Given the description of an element on the screen output the (x, y) to click on. 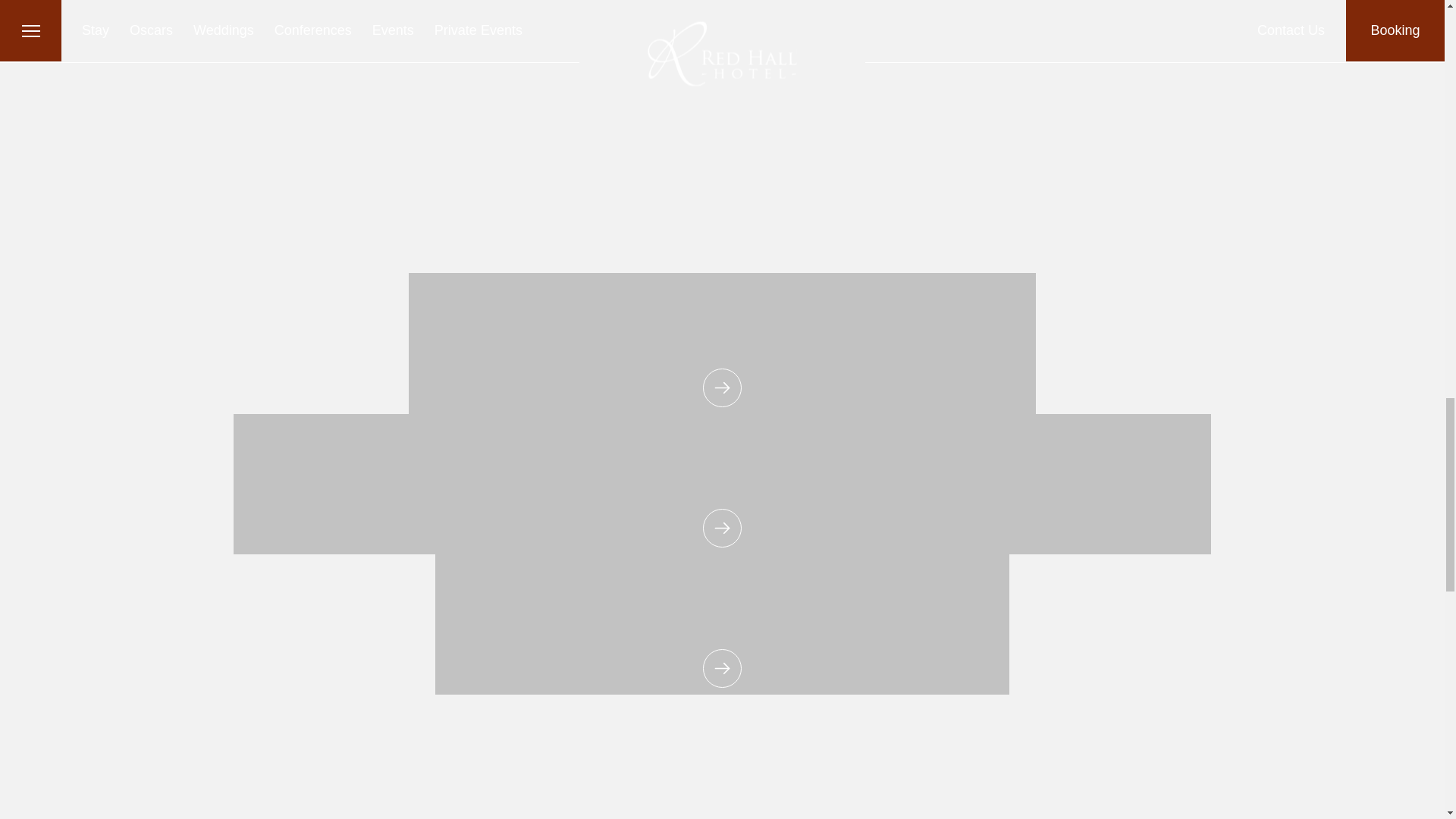
Submit Enquiry (546, 137)
